Given the description of an element on the screen output the (x, y) to click on. 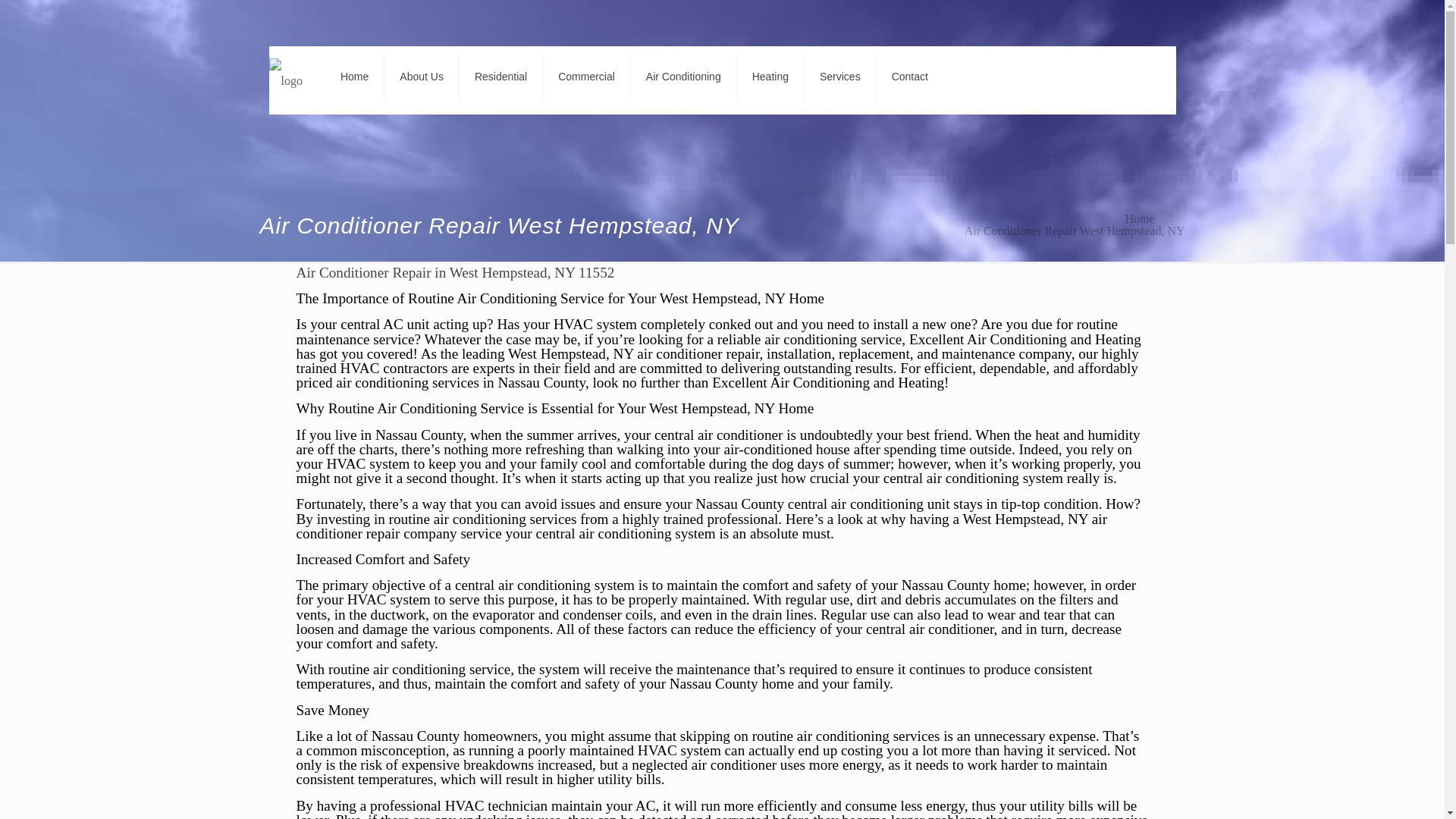
Services (840, 76)
Residential (501, 76)
Heating (770, 76)
Air Conditioning (683, 76)
Air Conditioner Repair West Hempstead, NY (1074, 230)
Contact (909, 76)
Home (354, 76)
About Us (422, 76)
Home (1139, 218)
Commercial (586, 76)
